Given the description of an element on the screen output the (x, y) to click on. 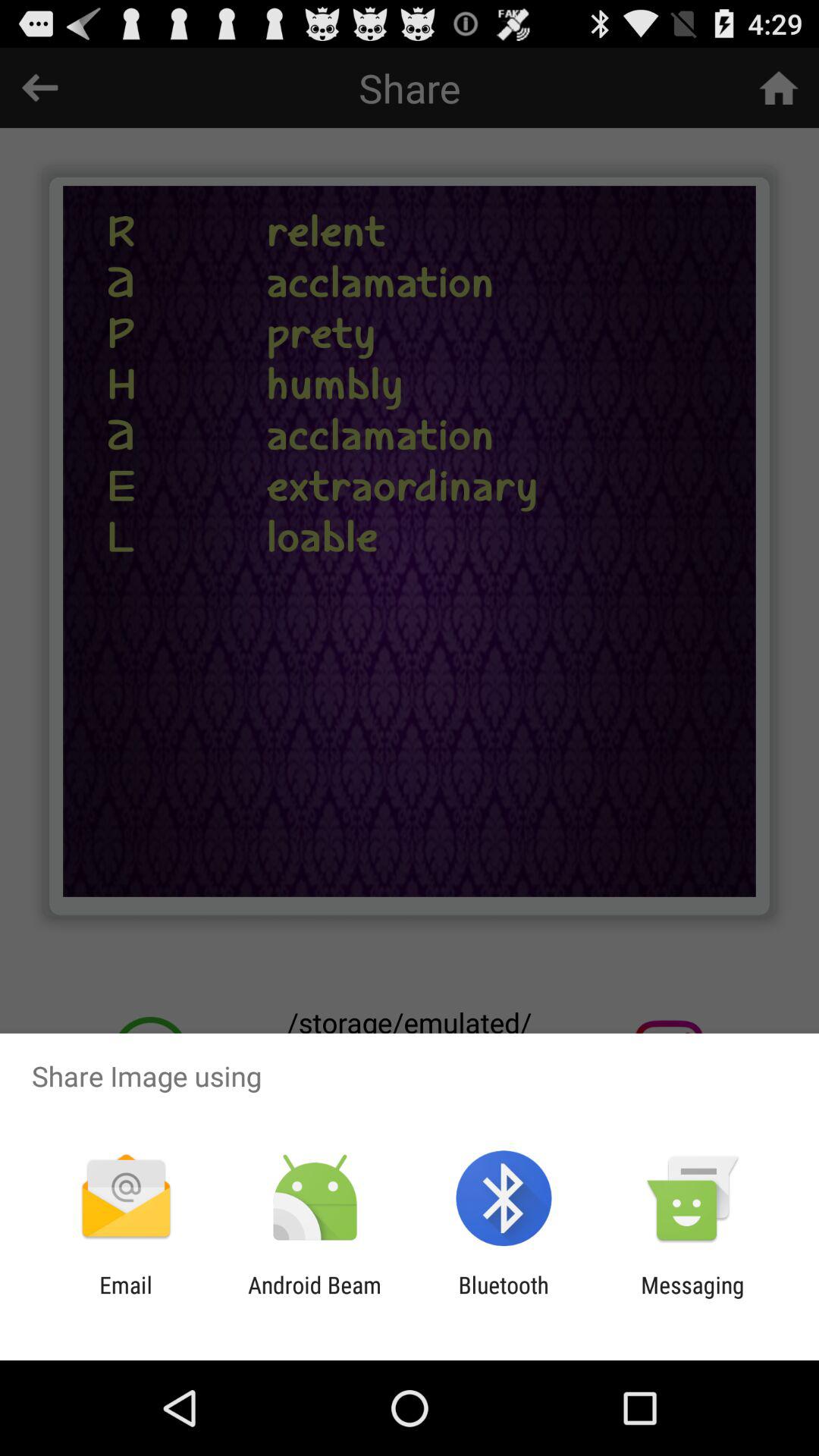
turn off email app (125, 1298)
